Given the description of an element on the screen output the (x, y) to click on. 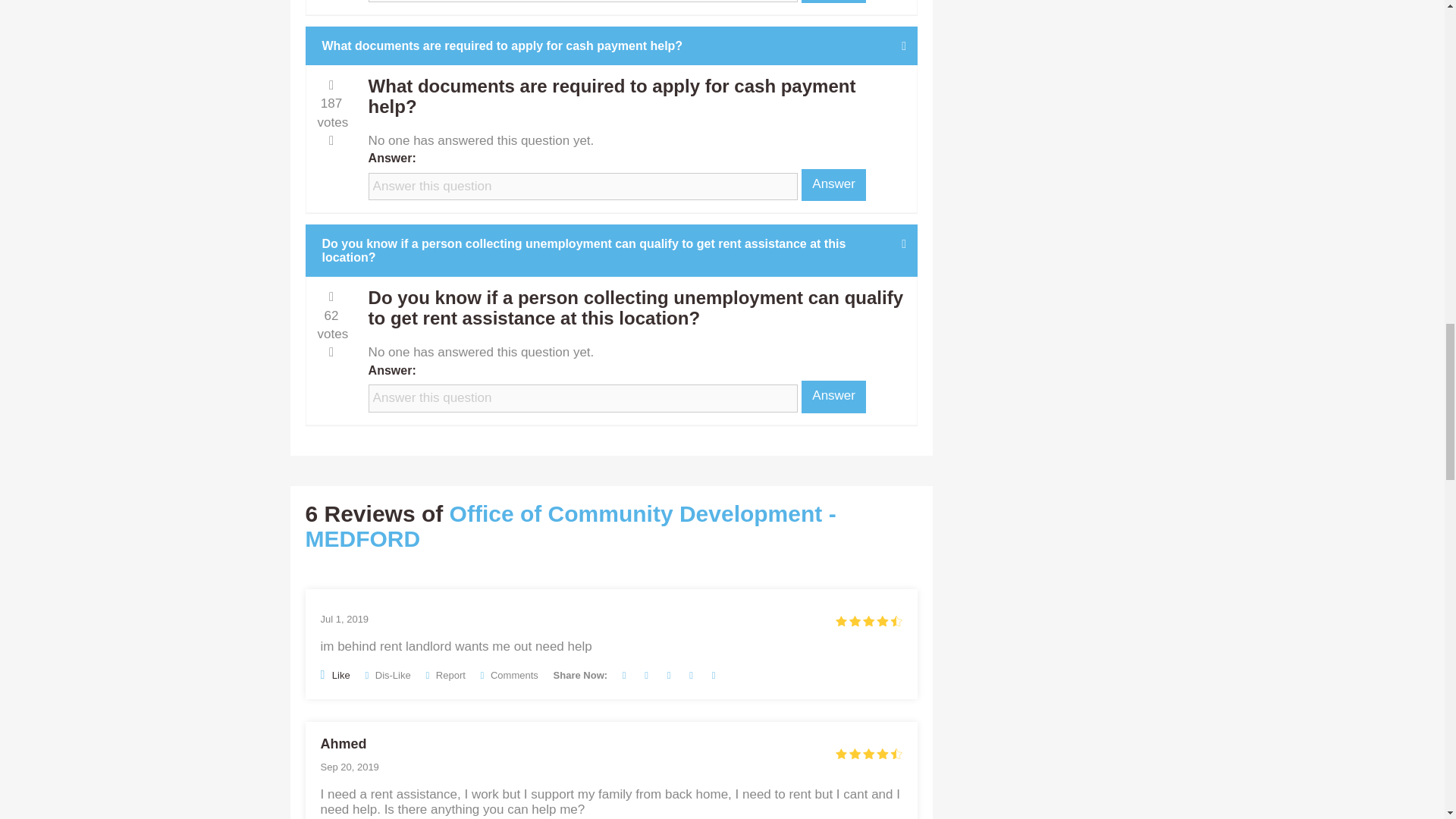
Like (334, 674)
Comments (509, 674)
Report (444, 674)
Share Now: (580, 674)
What documents are required to apply for cash payment help? (612, 46)
Dis-Like (387, 674)
Answer (834, 396)
Answer (834, 184)
Answer (834, 1)
